Given the description of an element on the screen output the (x, y) to click on. 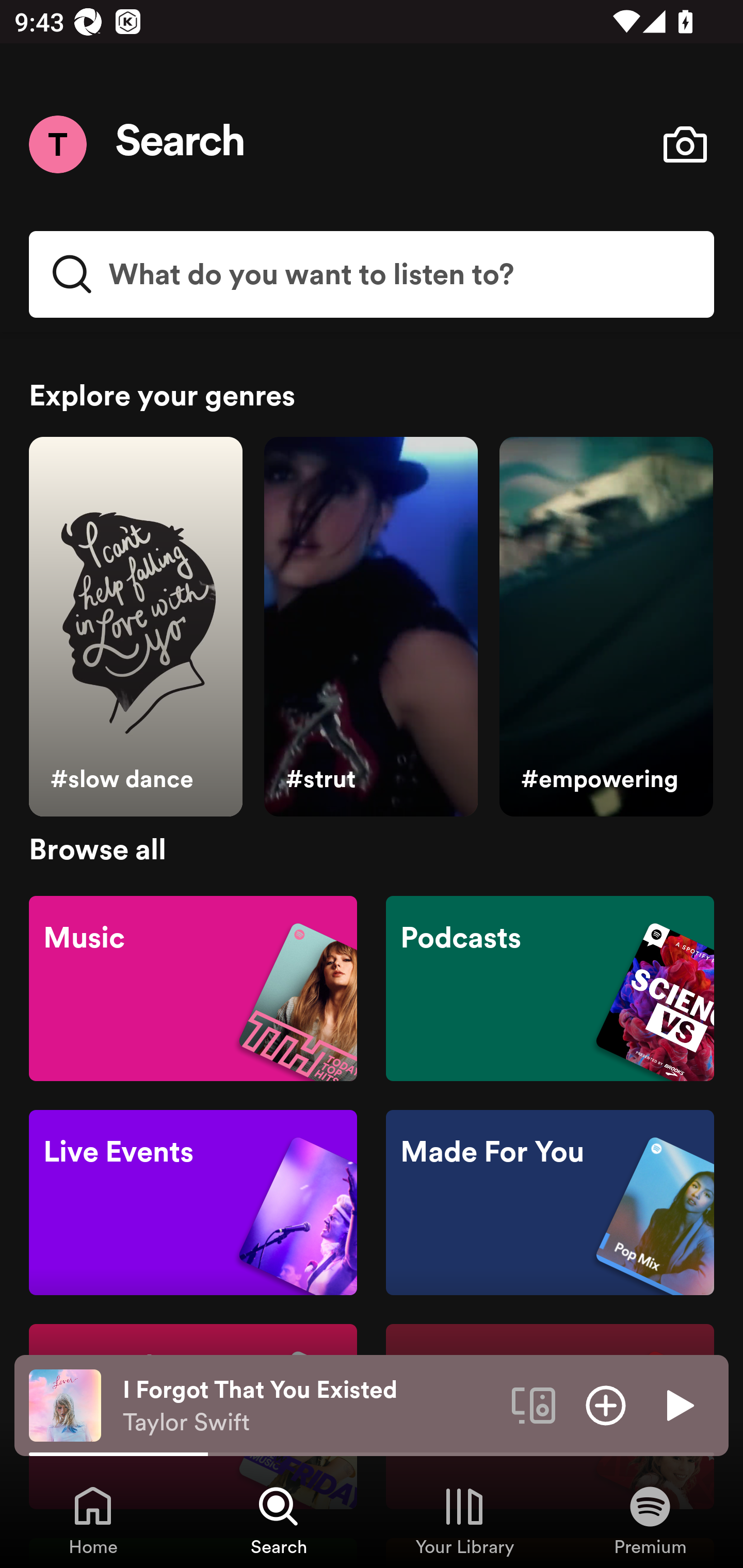
Menu (57, 144)
Open camera (685, 145)
Search (180, 144)
#slow dance (135, 626)
#strut (370, 626)
#empowering (606, 626)
Music (192, 987)
Podcasts (549, 987)
Live Events (192, 1202)
Made For You (549, 1202)
I Forgot That You Existed Taylor Swift (309, 1405)
The cover art of the currently playing track (64, 1404)
Connect to a device. Opens the devices menu (533, 1404)
Add item (605, 1404)
Play (677, 1404)
Home, Tab 1 of 4 Home Home (92, 1519)
Search, Tab 2 of 4 Search Search (278, 1519)
Your Library, Tab 3 of 4 Your Library Your Library (464, 1519)
Premium, Tab 4 of 4 Premium Premium (650, 1519)
